Given the description of an element on the screen output the (x, y) to click on. 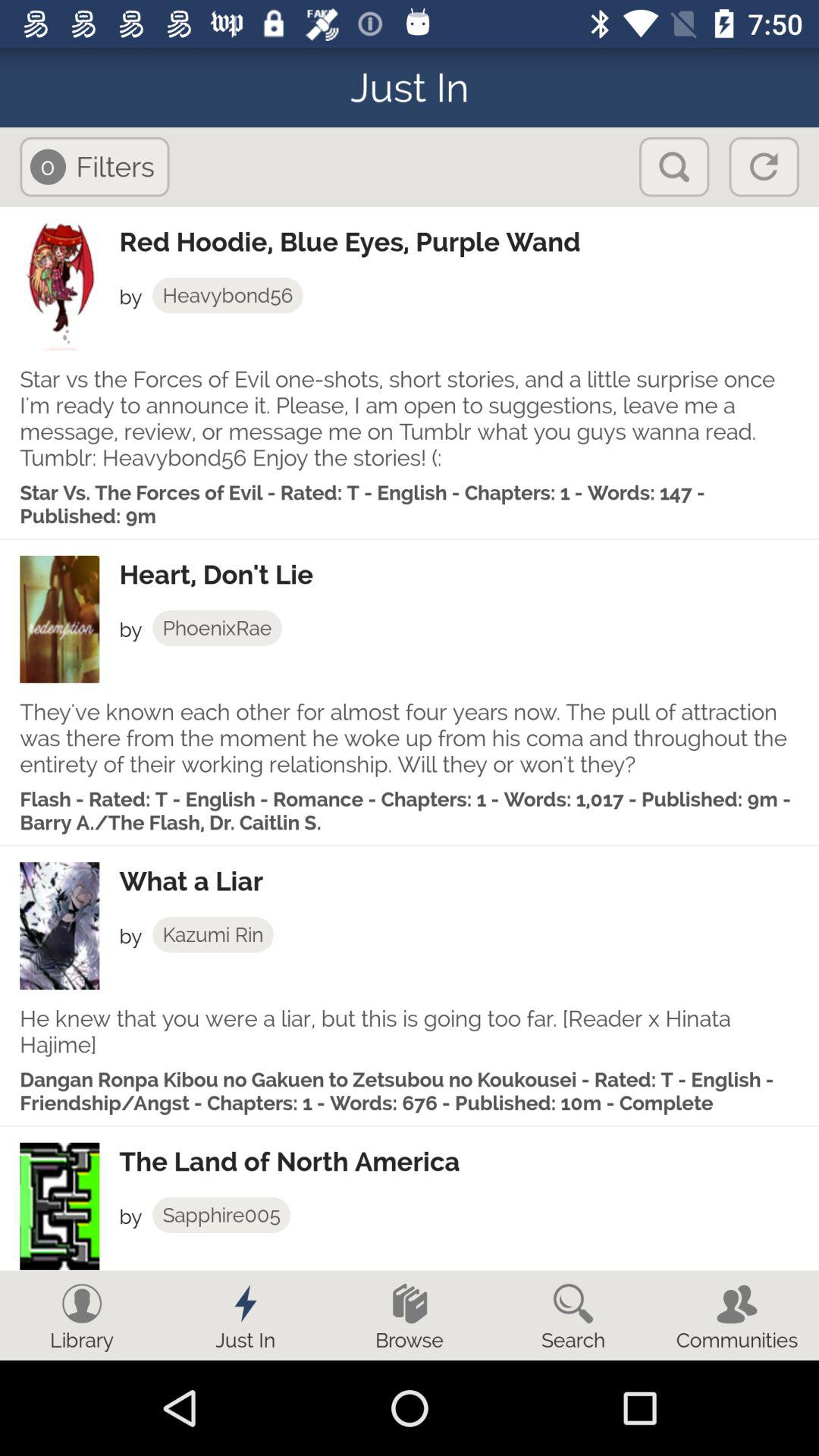
tap the icon next to by (217, 628)
